Given the description of an element on the screen output the (x, y) to click on. 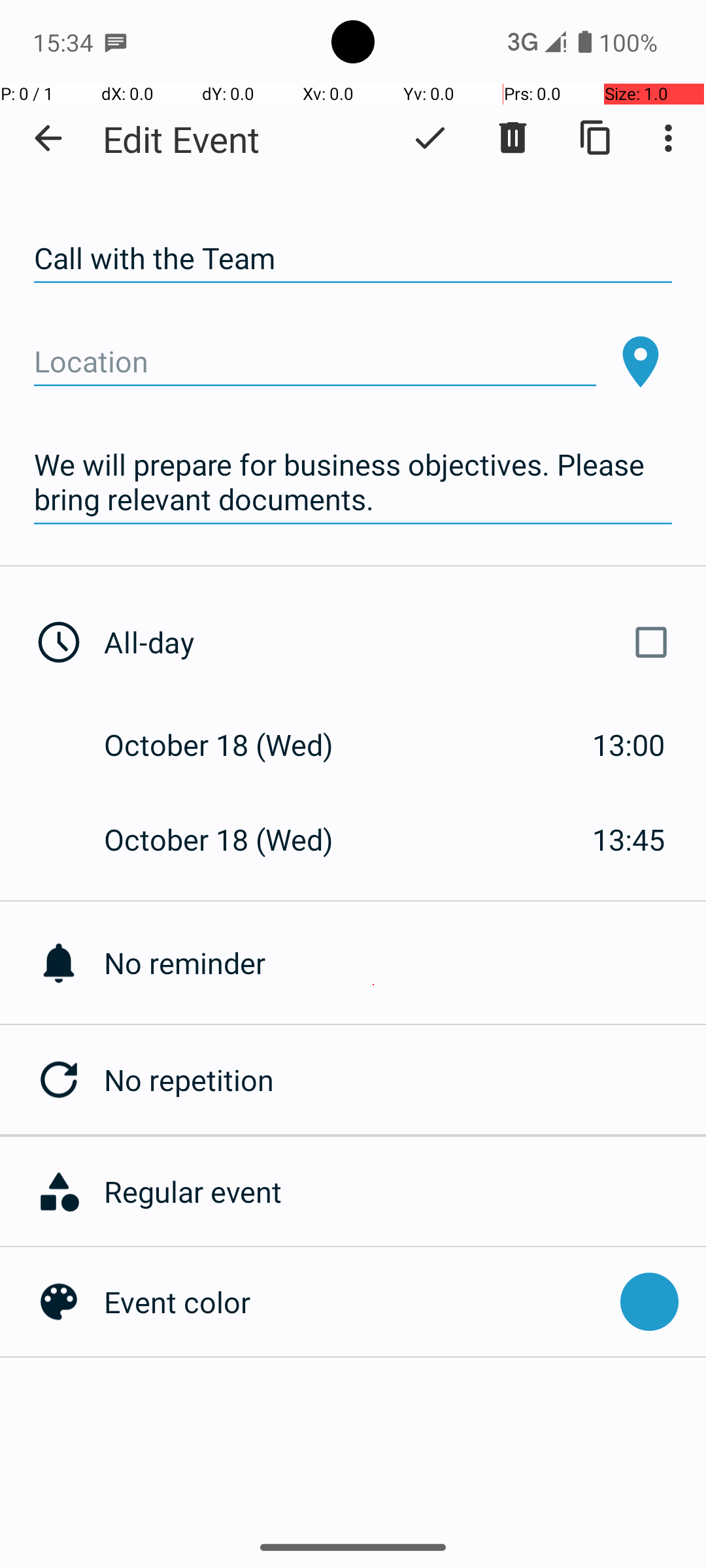
Call with the Team Element type: android.widget.EditText (352, 258)
We will prepare for business objectives. Please bring relevant documents. Element type: android.widget.EditText (352, 482)
October 18 (Wed) Element type: android.widget.TextView (232, 744)
13:00 Element type: android.widget.TextView (628, 744)
13:45 Element type: android.widget.TextView (628, 838)
